Given the description of an element on the screen output the (x, y) to click on. 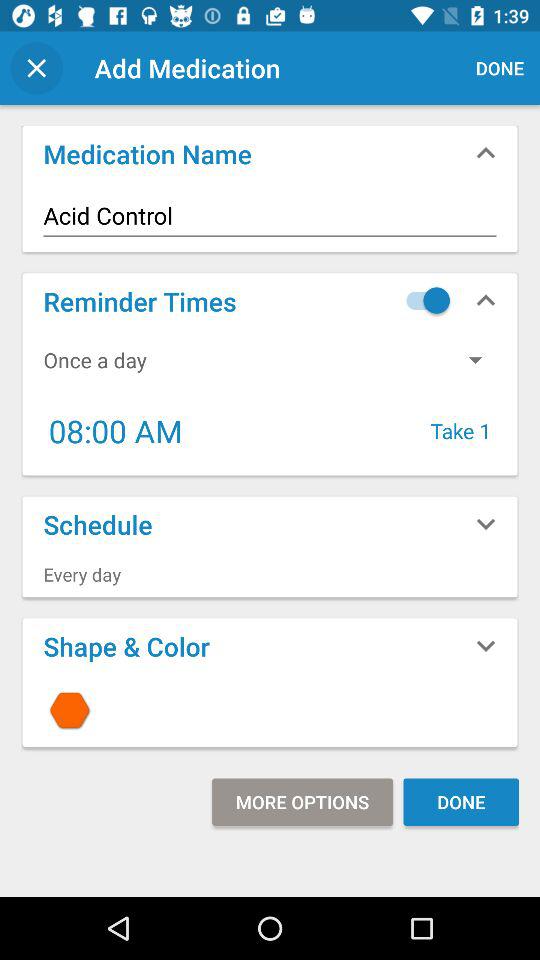
swipe to the (269, 709)
